Given the description of an element on the screen output the (x, y) to click on. 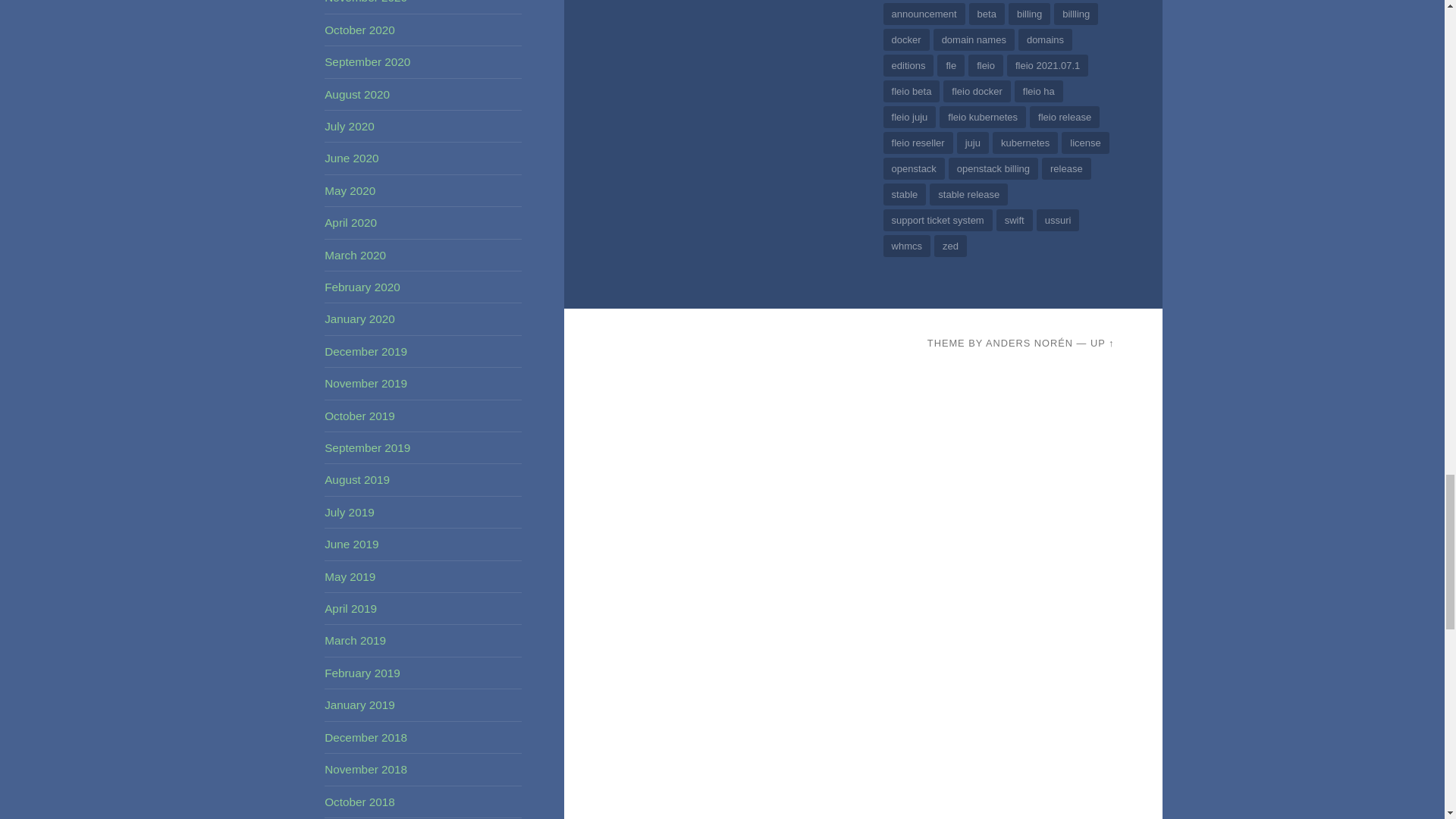
To the top (1102, 342)
